Given the description of an element on the screen output the (x, y) to click on. 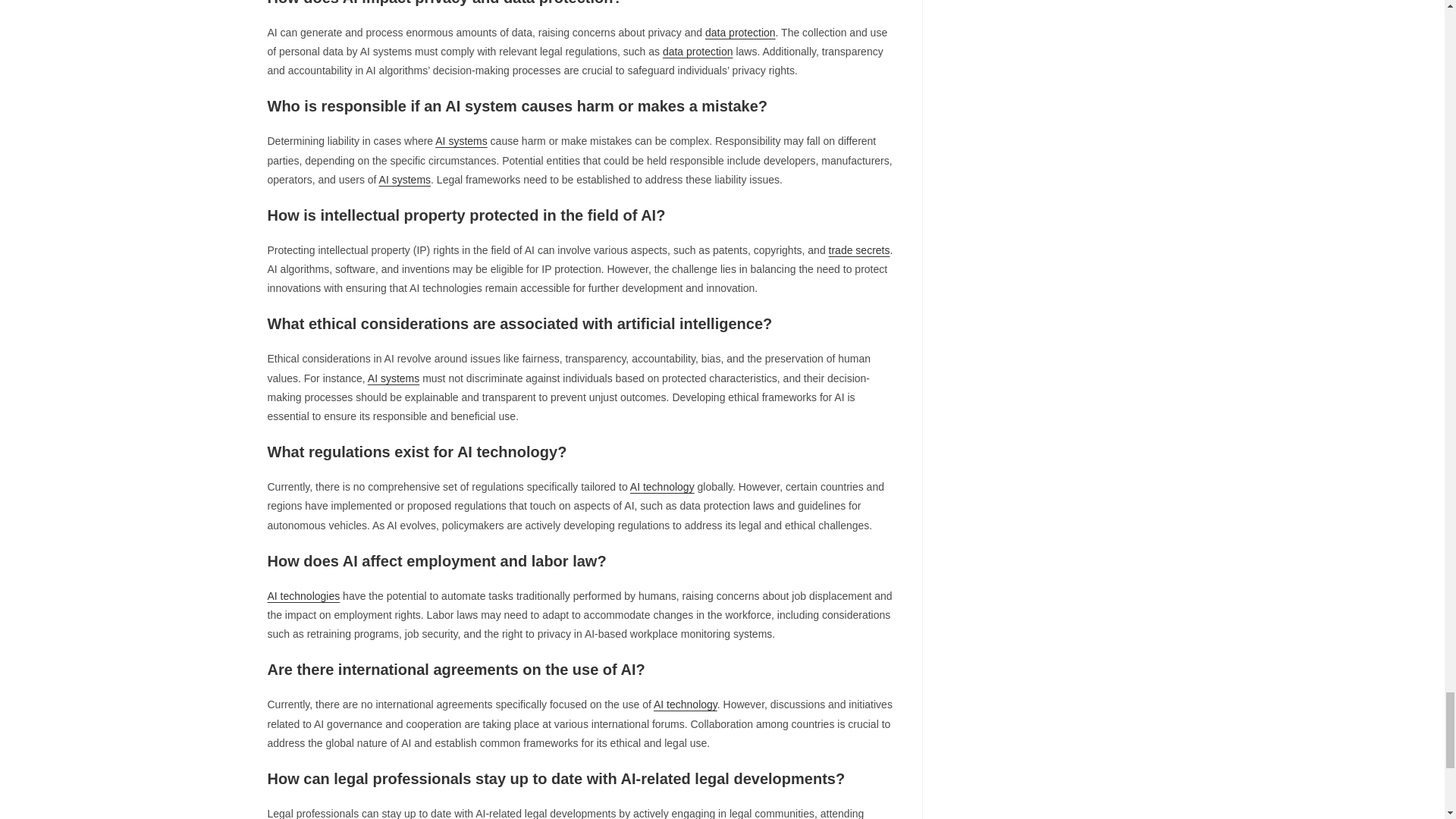
AI systems (393, 378)
AI technology (662, 486)
AI technologies (302, 595)
AI systems (404, 179)
trade secrets (858, 250)
data protection (740, 32)
data protection (697, 51)
AI technology (685, 704)
AI systems (460, 141)
